Given the description of an element on the screen output the (x, y) to click on. 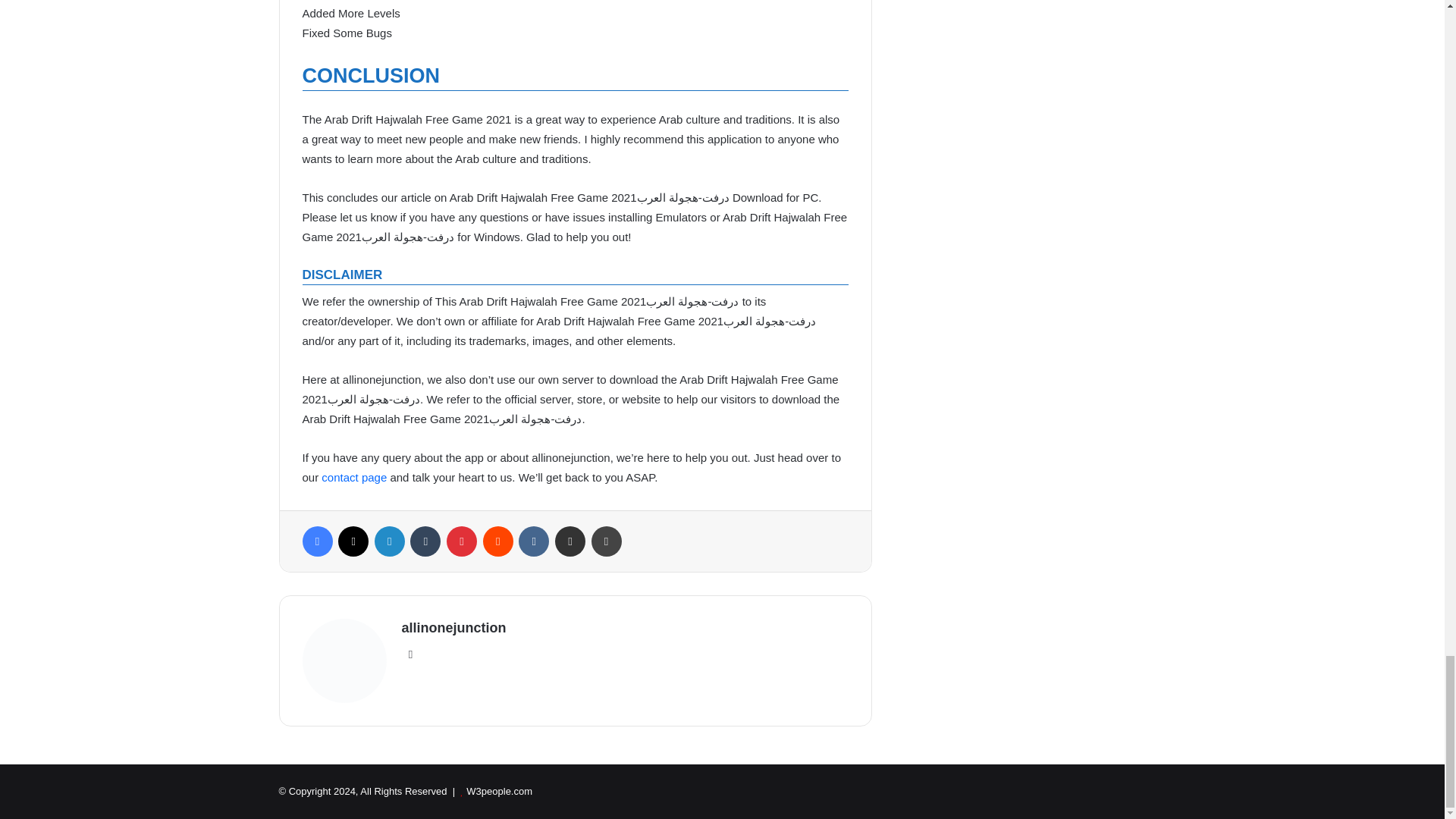
Pinterest (461, 541)
LinkedIn (389, 541)
Facebook (316, 541)
Print (606, 541)
VKontakte (533, 541)
Reddit (498, 541)
Tumblr (425, 541)
Share via Email (569, 541)
X (352, 541)
